Given the description of an element on the screen output the (x, y) to click on. 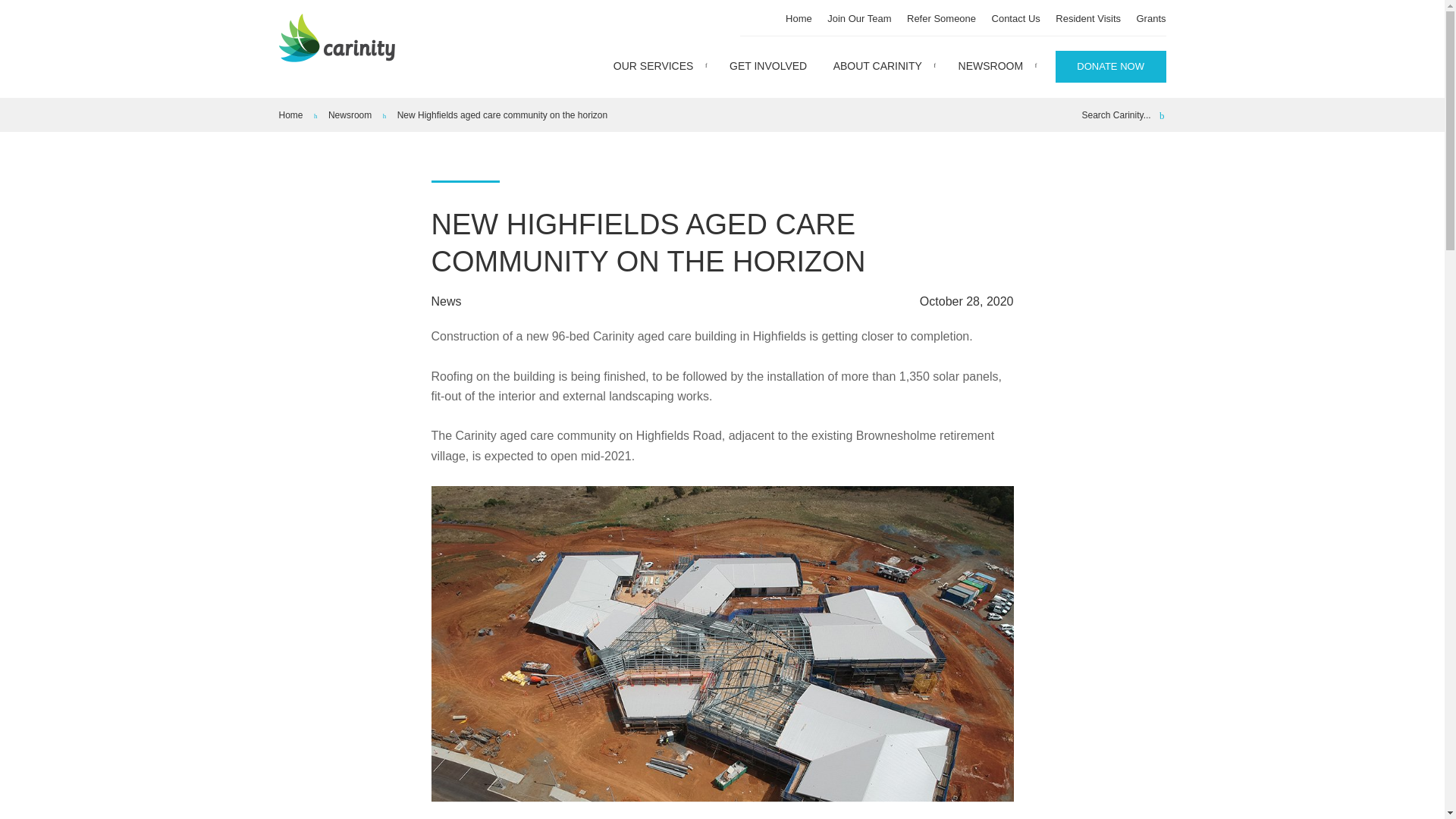
Contact Us (1016, 18)
Newsroom (350, 114)
Home (290, 114)
GET INVOLVED (767, 65)
Join Our Team (859, 18)
DONATE NOW (1110, 66)
NEWSROOM (995, 65)
Resident Visits (1088, 18)
News (445, 300)
Refer Someone (941, 18)
